Given the description of an element on the screen output the (x, y) to click on. 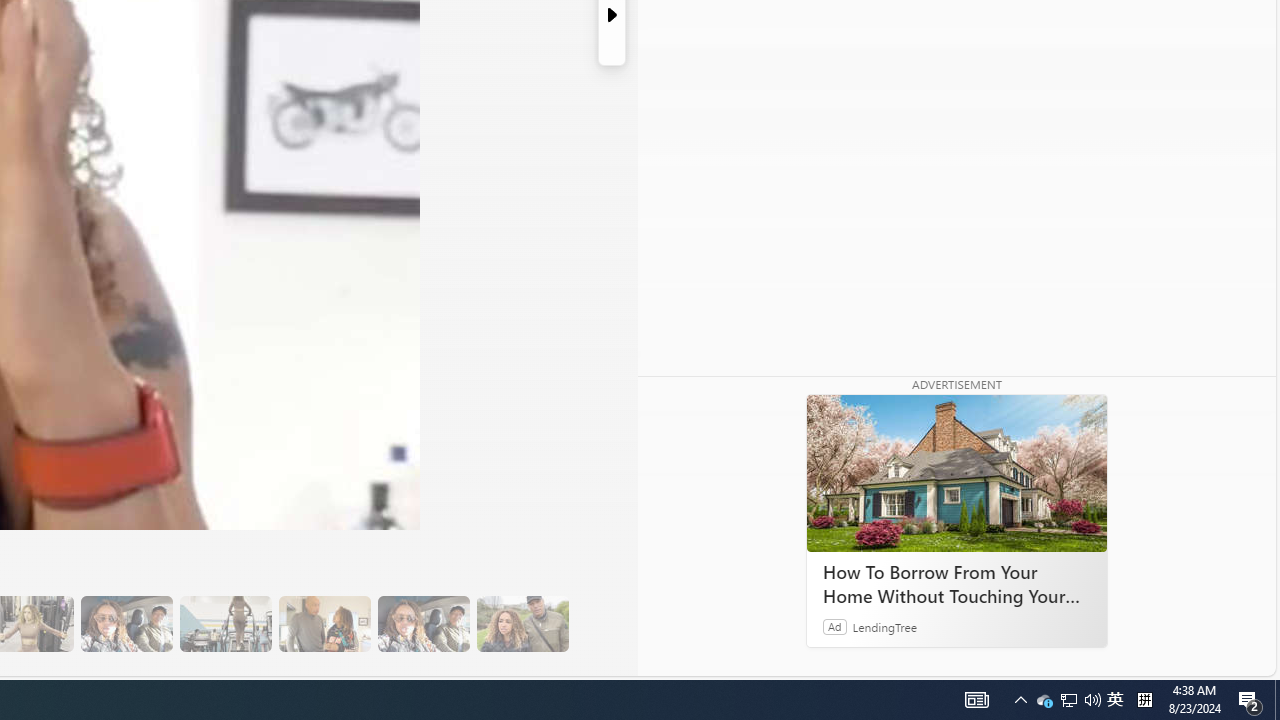
20 Overall, It Will Improve Your Health (522, 624)
19 It Also Simplifies Thiings (423, 624)
19 It Also Simplifies Thiings (423, 624)
18 It's More Fun Doing It with Someone Else (324, 624)
LendingTree (884, 626)
18 It's More Fun Doing It with Someone Else (324, 624)
20 Overall, It Will Improve Your Health (522, 624)
